Given the description of an element on the screen output the (x, y) to click on. 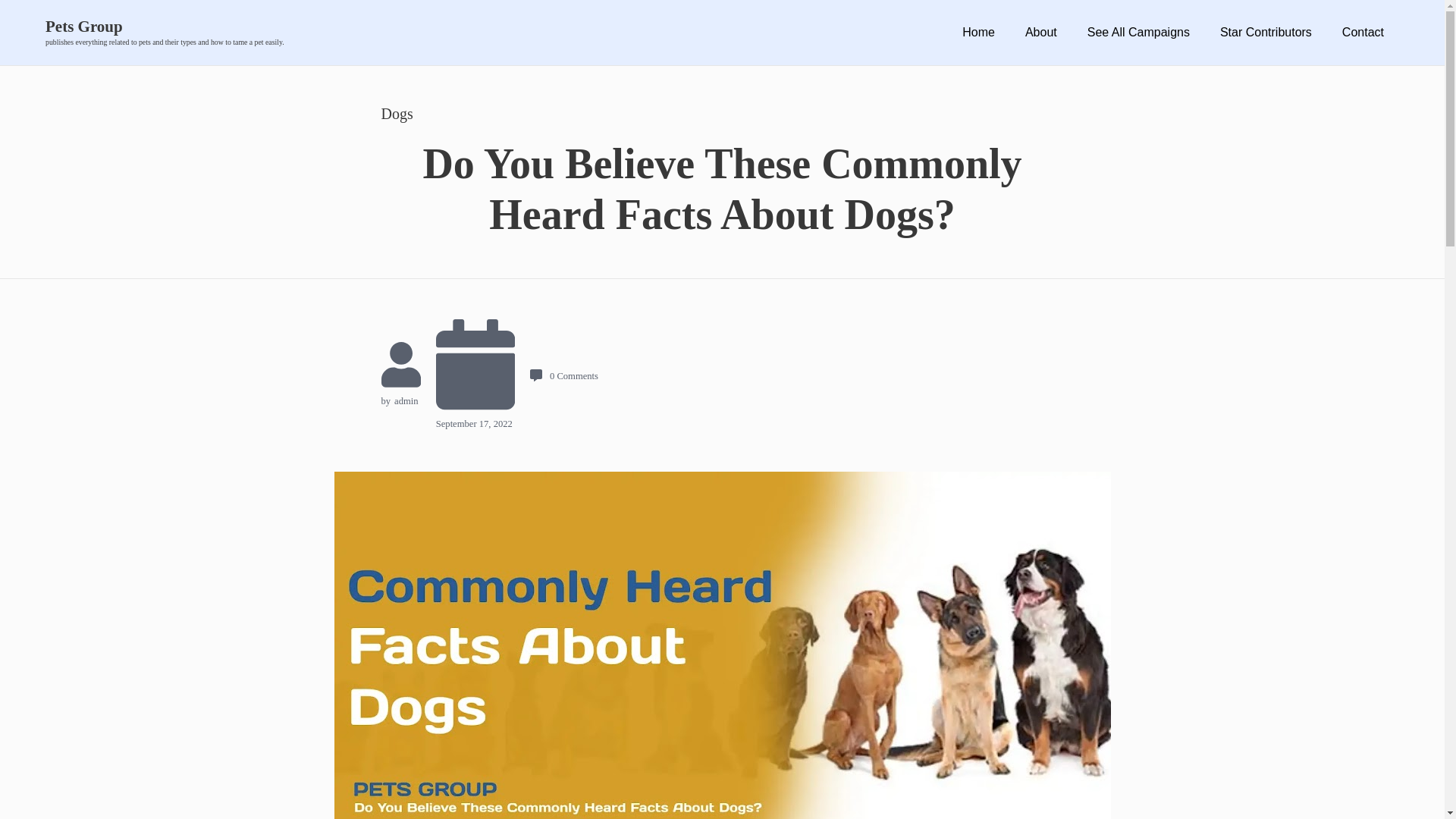
Contact (1362, 32)
Pets Group (164, 26)
Home (978, 32)
admin (405, 400)
Dogs (396, 113)
See All Campaigns (1138, 32)
0 Comments (563, 376)
About (1040, 32)
Star Contributors (1265, 32)
Pets Group (164, 26)
Posts by admin (405, 400)
